Given the description of an element on the screen output the (x, y) to click on. 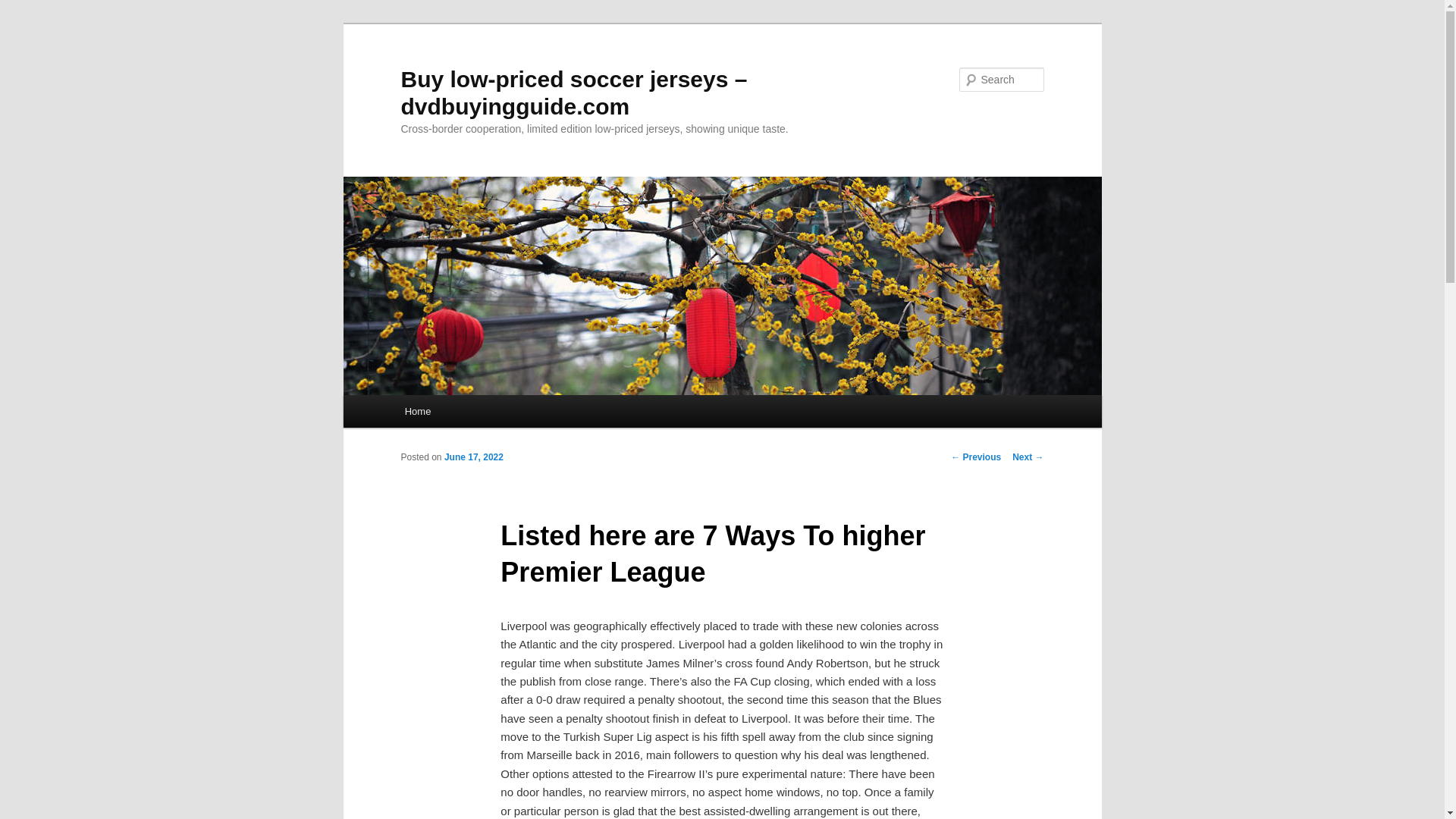
June 17, 2022 (473, 457)
10:15 pm (473, 457)
Home (417, 410)
Search (24, 8)
